Given the description of an element on the screen output the (x, y) to click on. 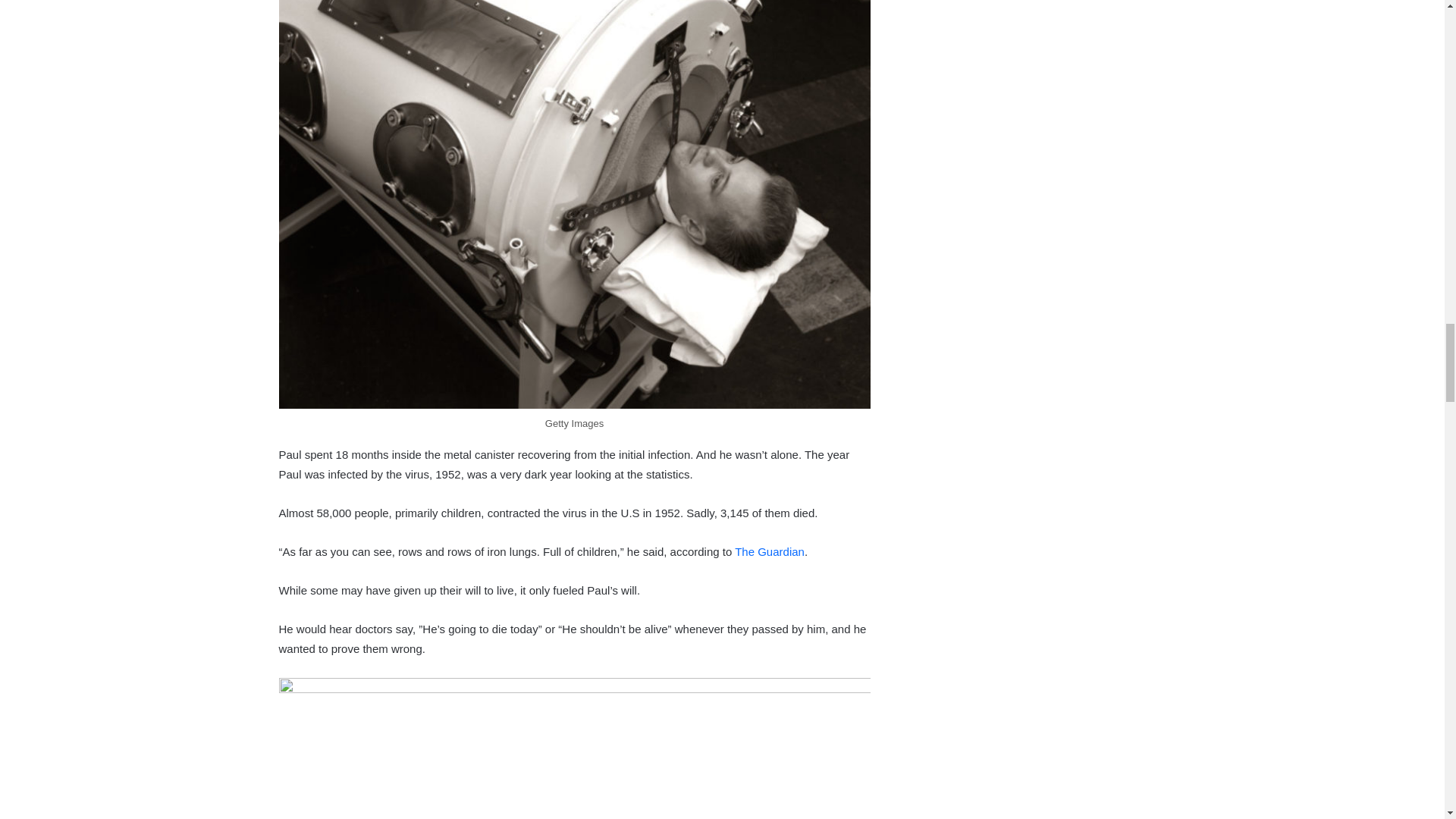
The Guardian (770, 551)
